Given the description of an element on the screen output the (x, y) to click on. 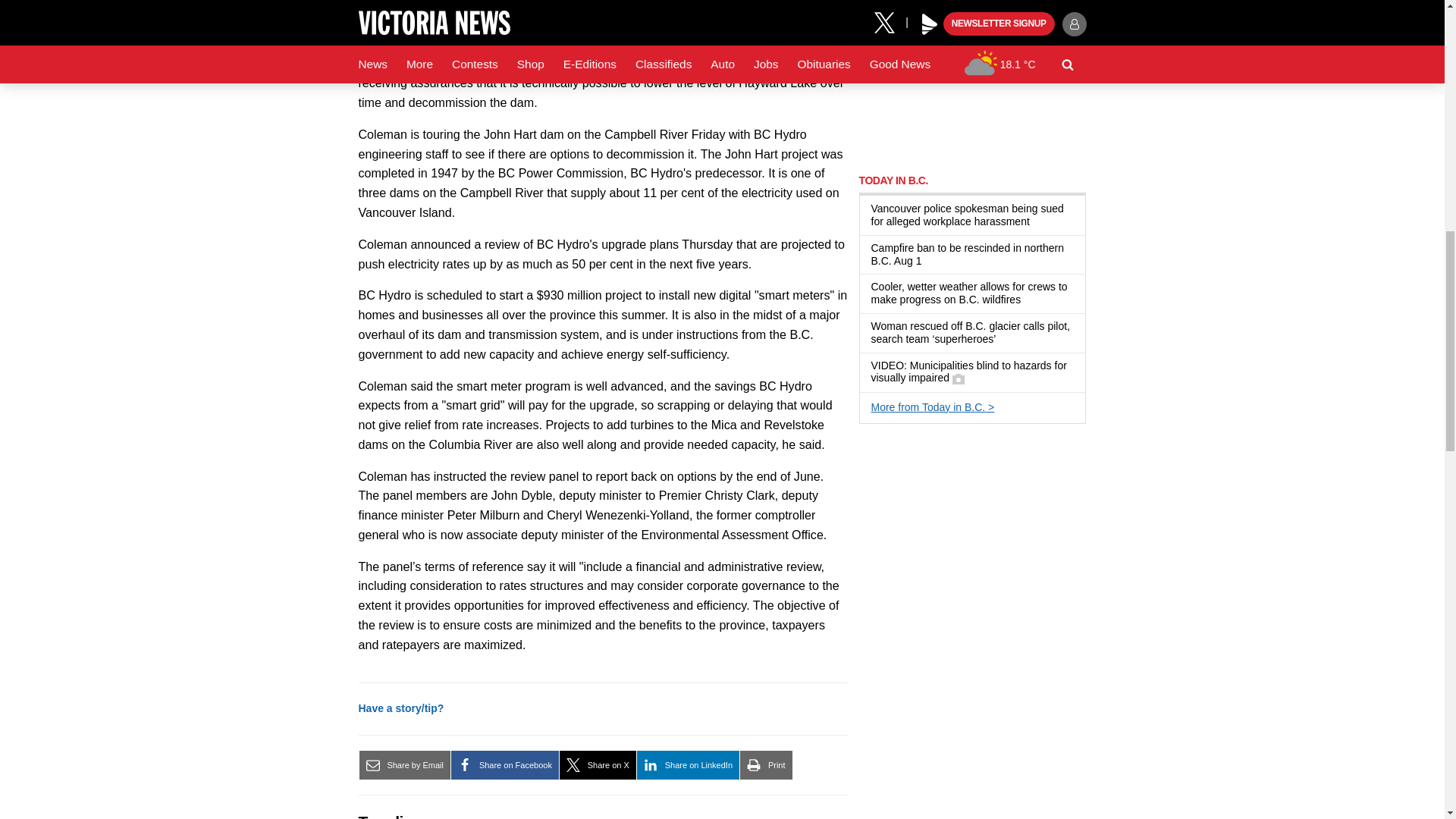
Has a gallery (957, 378)
